Given the description of an element on the screen output the (x, y) to click on. 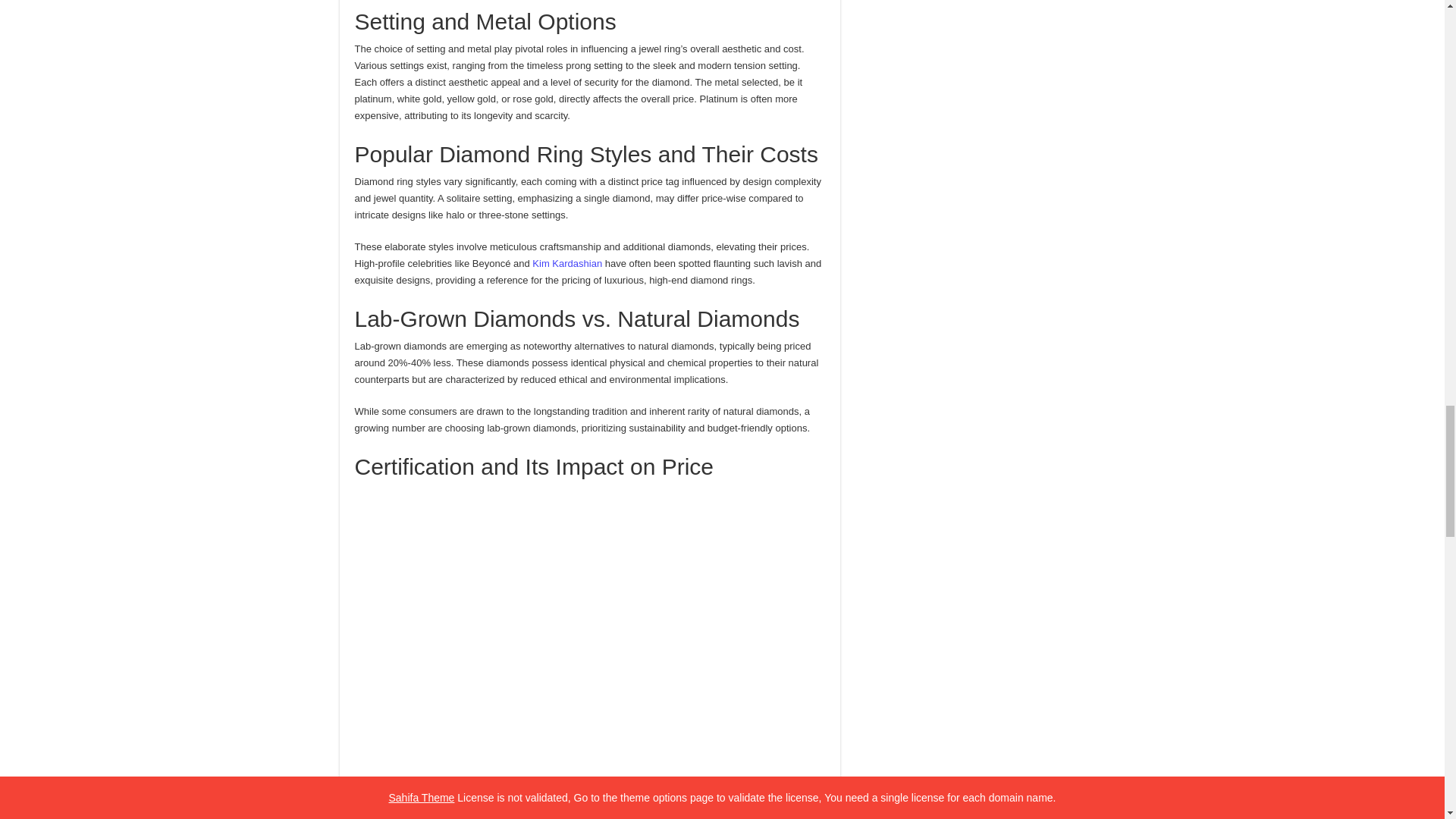
Kim Kardashian (567, 263)
